Given the description of an element on the screen output the (x, y) to click on. 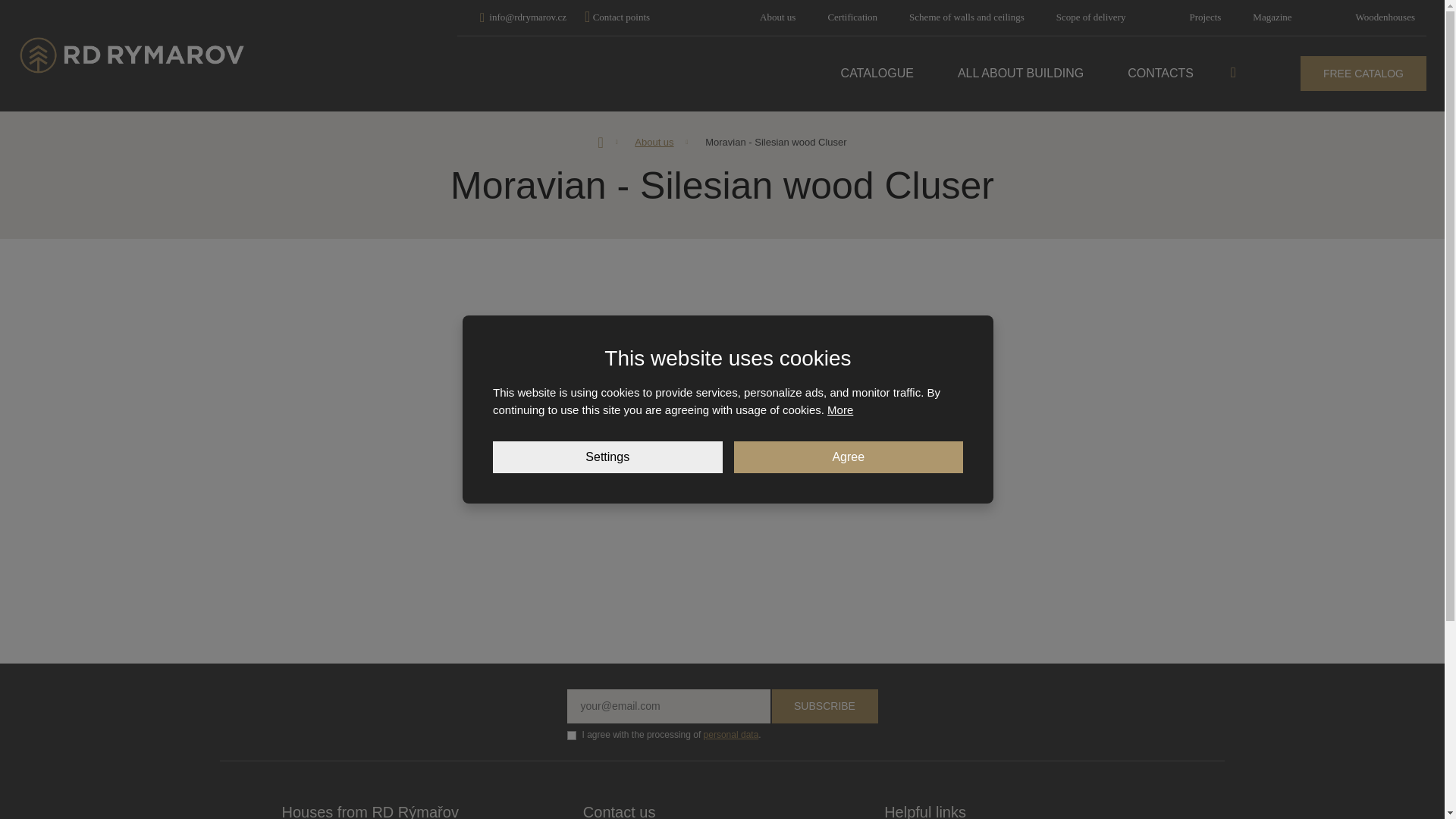
Projects (1204, 17)
Scope of delivery (1090, 17)
CONTACTS (1160, 73)
Woodenhouses (1385, 17)
Projects (1204, 17)
FREE CATALOG (1363, 73)
ALL ABOUT BUILDING (1020, 73)
 Contact points (617, 16)
Scheme of walls and ceilings (966, 17)
Certification (852, 17)
Magazine (1272, 17)
CATALOGUE (876, 73)
Catalogue (876, 73)
About us (777, 17)
About us (777, 17)
